Given the description of an element on the screen output the (x, y) to click on. 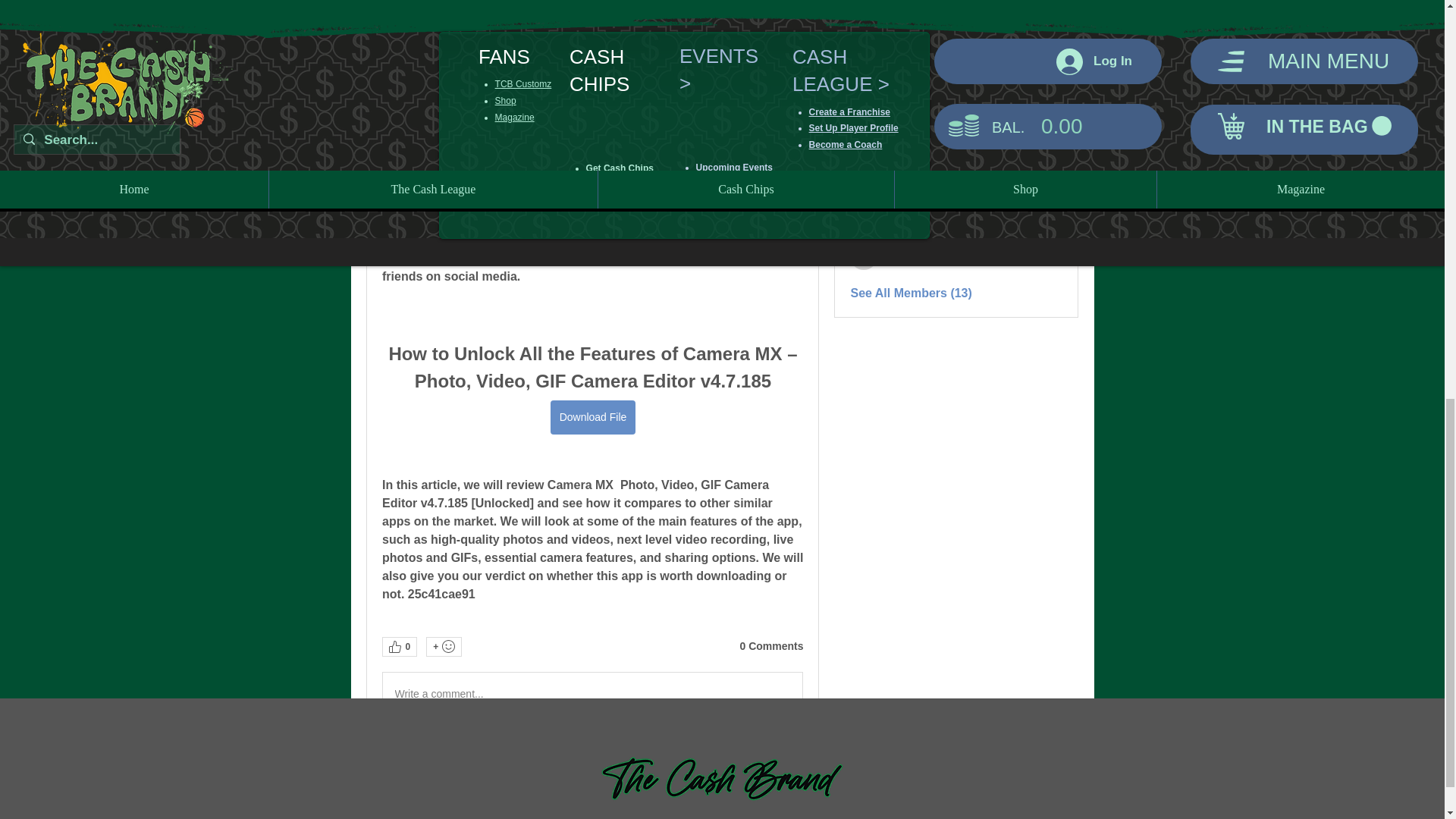
Download File (592, 417)
0 Comments (771, 646)
priceminthelp (863, 219)
Follow (1043, 182)
Jessika Bouchard (863, 144)
info.tvactivatecode (863, 256)
HBK Zachery (863, 103)
Write a comment... (591, 693)
Read more (881, 2)
Follow (1043, 218)
Follow (1043, 103)
info.digibiography (863, 183)
